Given the description of an element on the screen output the (x, y) to click on. 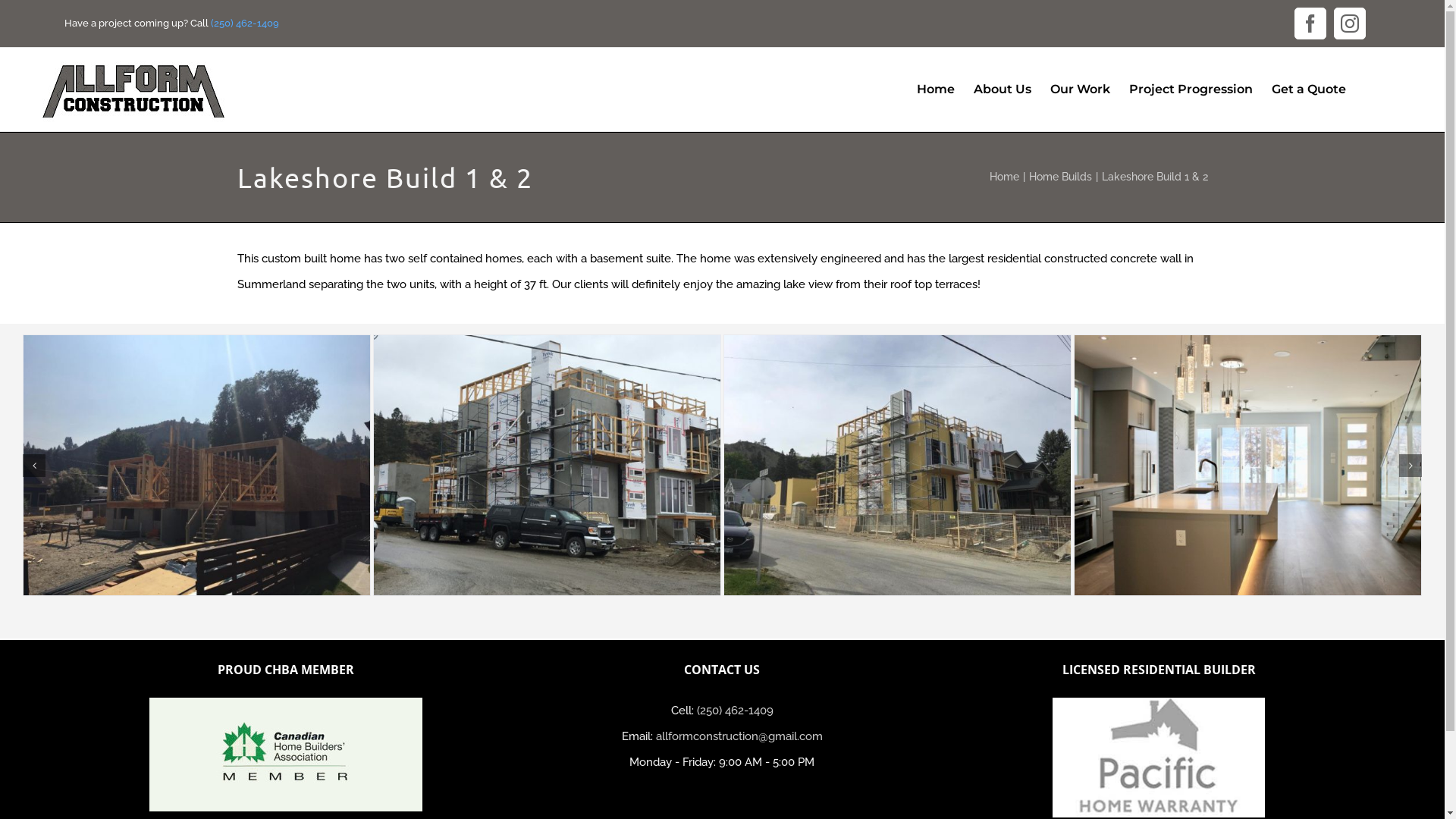
Home Element type: text (935, 89)
Facebook Element type: text (1310, 23)
Instagram Element type: text (1349, 23)
Get a Quote Element type: text (1308, 89)
Home Element type: text (1003, 176)
(250) 462-1409 Element type: text (734, 710)
Project Progression Element type: text (1190, 89)
Home Builds Element type: text (1059, 176)
(250) 462-1409 Element type: text (244, 22)
Our Work Element type: text (1080, 89)
allformconstruction@gmail.com Element type: text (738, 736)
About Us Element type: text (1002, 89)
